Given the description of an element on the screen output the (x, y) to click on. 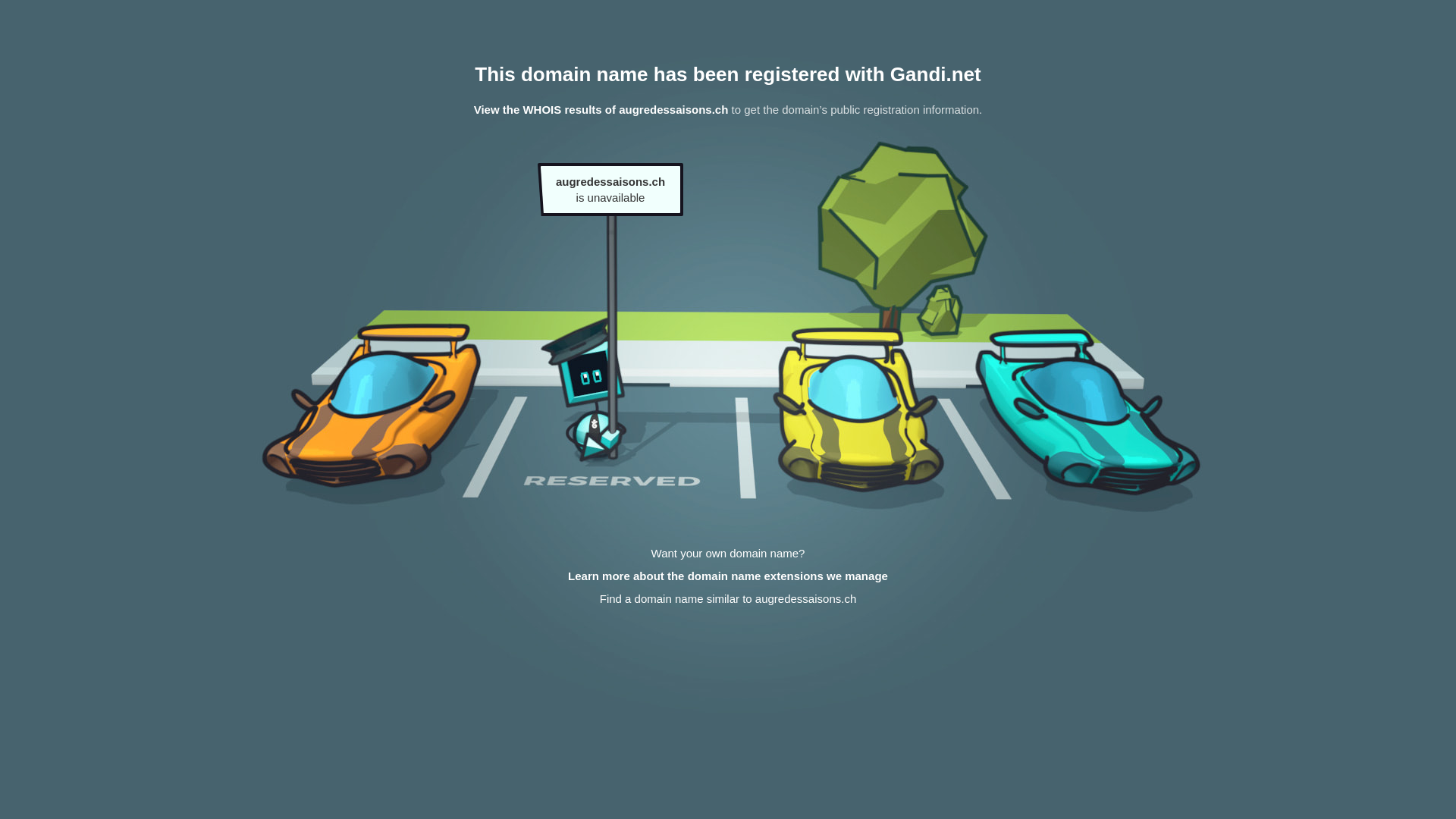
Learn more about the domain name extensions we manage Element type: text (727, 575)
Find a domain name similar to augredessaisons.ch Element type: text (727, 598)
View the WHOIS results of augredessaisons.ch Element type: text (600, 109)
